Given the description of an element on the screen output the (x, y) to click on. 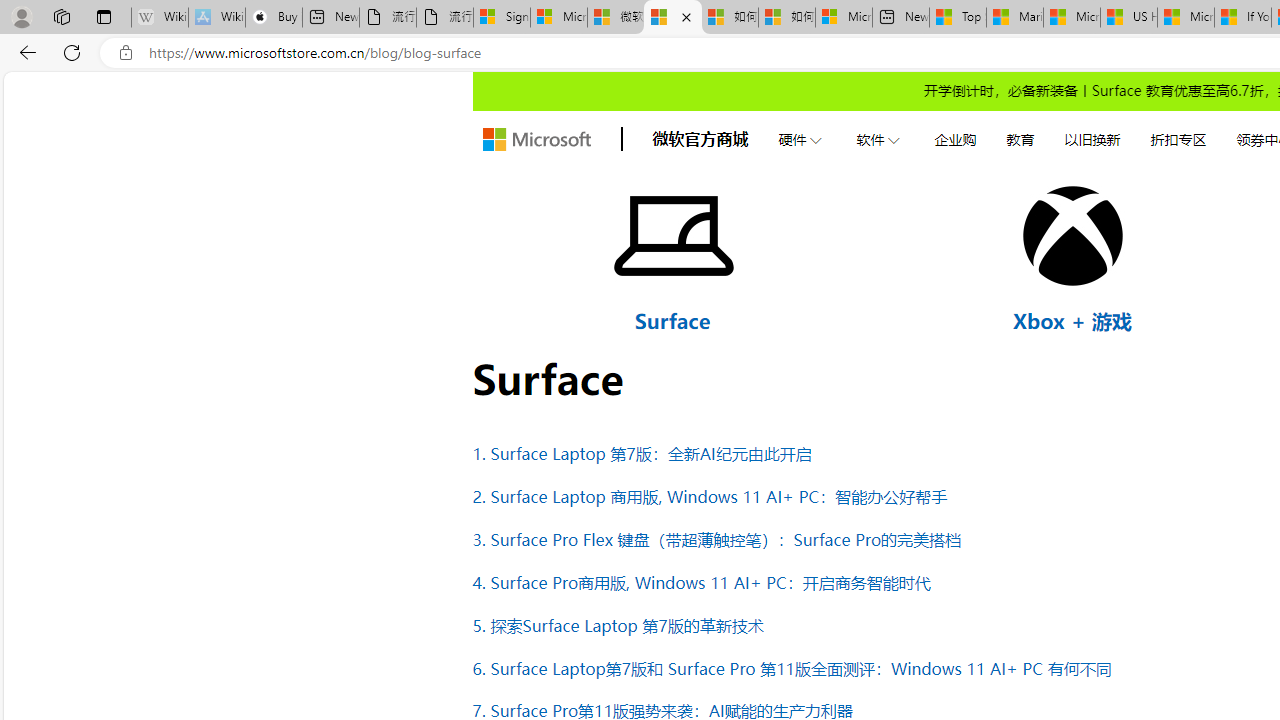
store logo (536, 139)
